Given the description of an element on the screen output the (x, y) to click on. 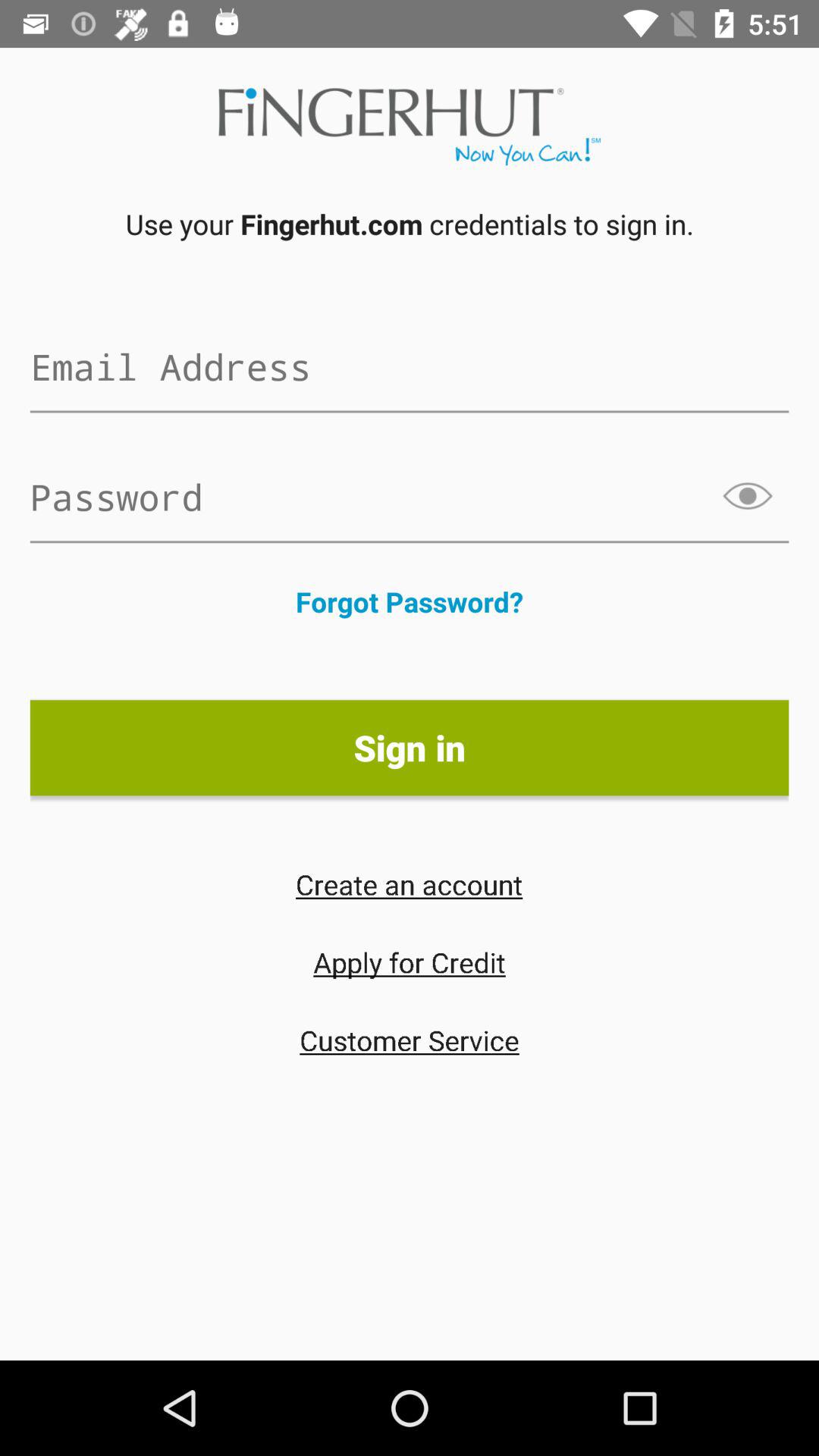
tap the item above the sign in item (409, 601)
